Given the description of an element on the screen output the (x, y) to click on. 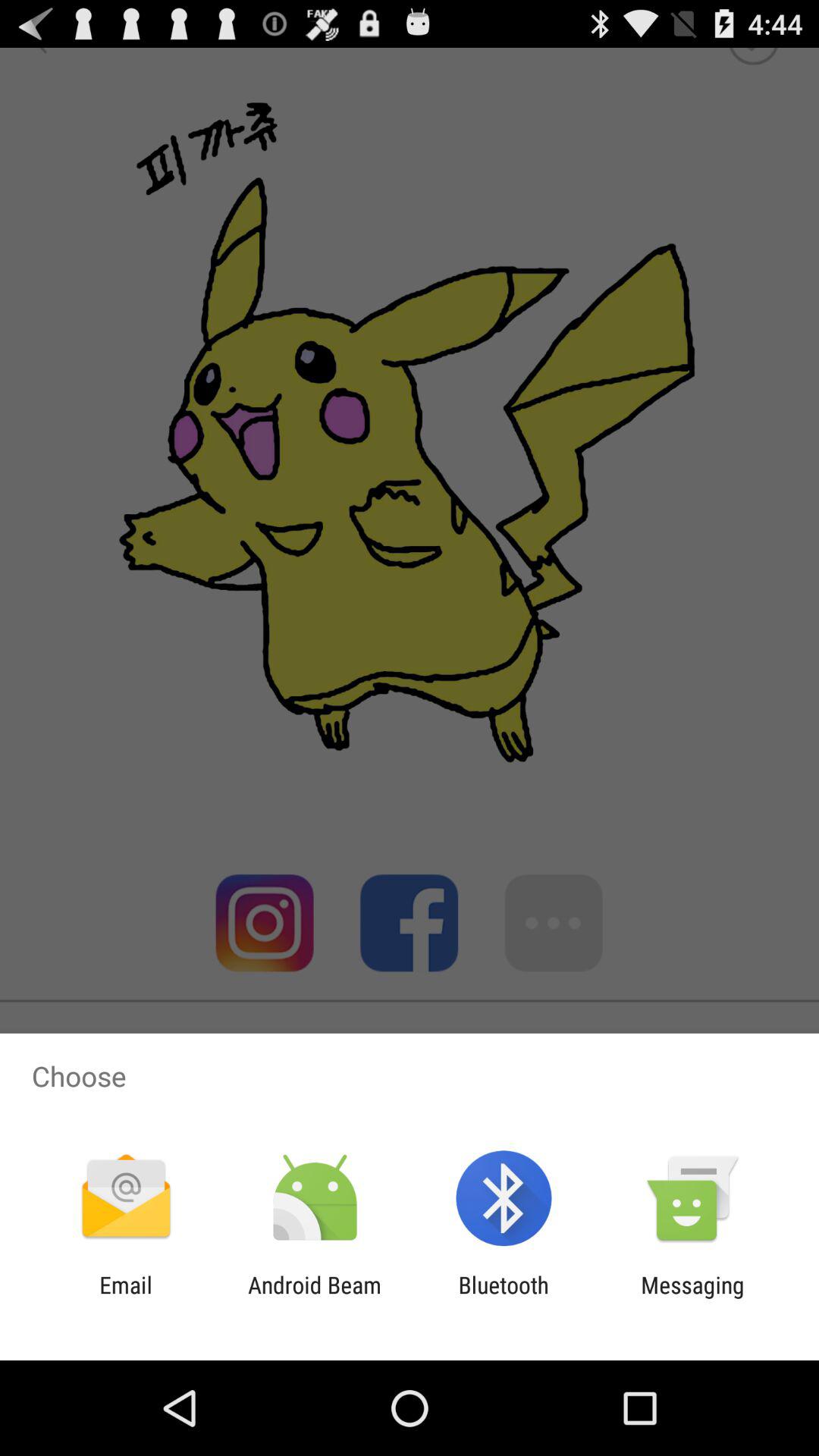
launch app next to the android beam icon (125, 1298)
